Given the description of an element on the screen output the (x, y) to click on. 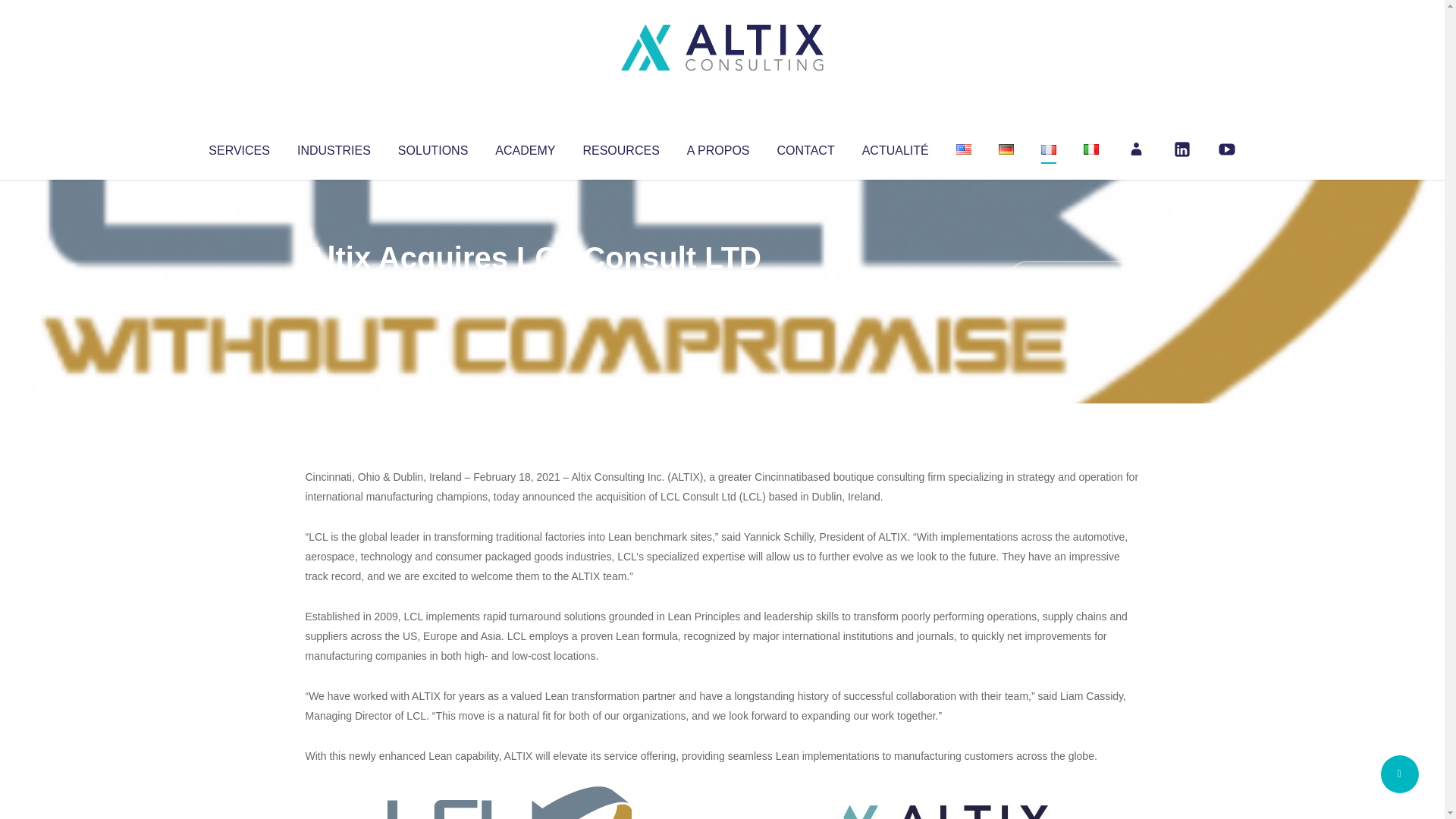
Uncategorized (530, 287)
A PROPOS (718, 146)
SOLUTIONS (432, 146)
INDUSTRIES (334, 146)
Articles par Altix (333, 287)
RESOURCES (620, 146)
ACADEMY (524, 146)
SERVICES (238, 146)
Altix (333, 287)
No Comments (1073, 278)
